Given the description of an element on the screen output the (x, y) to click on. 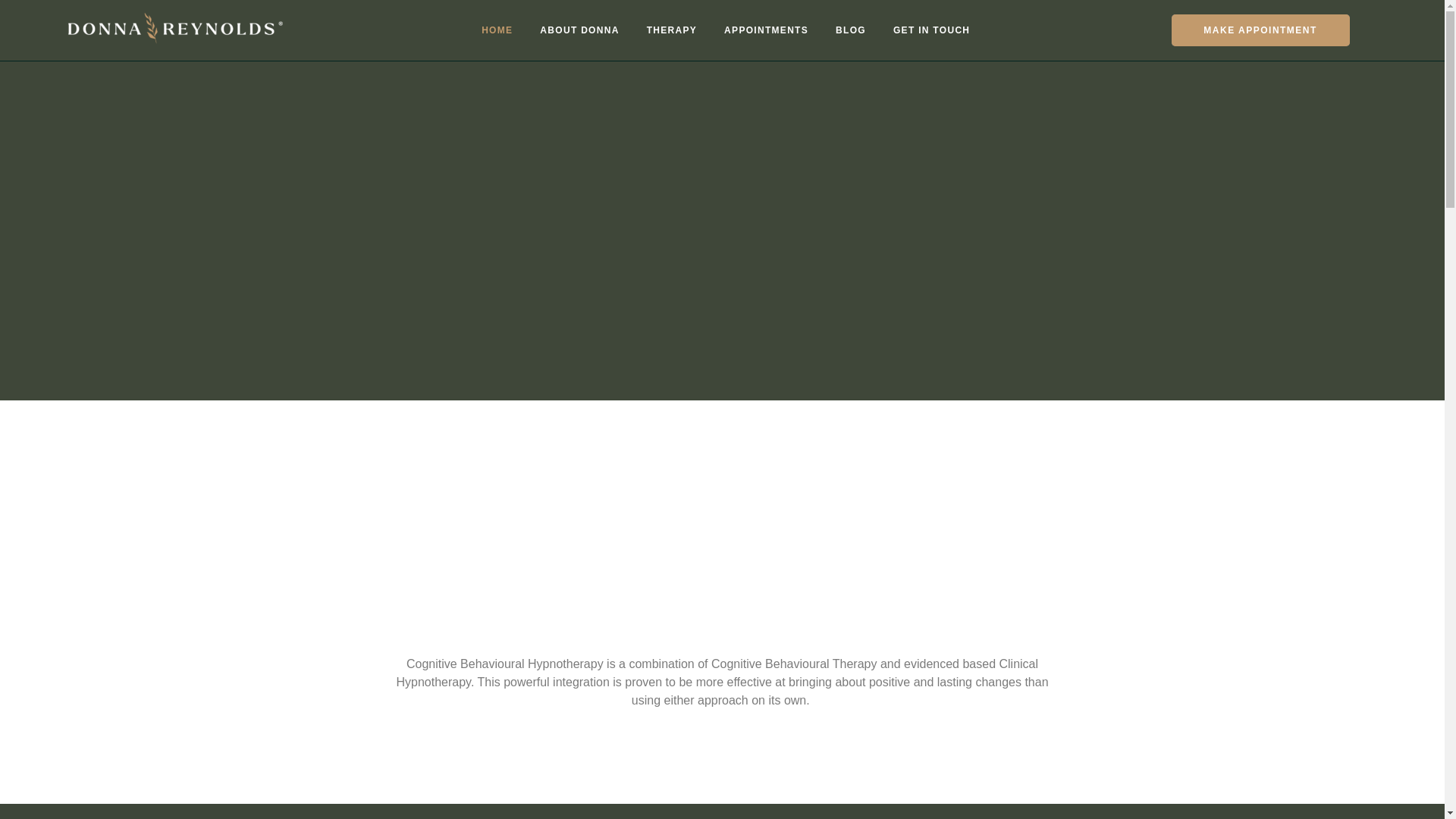
BLOG (850, 30)
ABOUT DONNA (578, 30)
MAKE APPOINTMENT (1260, 29)
GET IN TOUCH (931, 30)
HOME (496, 30)
THERAPY (671, 30)
APPOINTMENTS (766, 30)
